Given the description of an element on the screen output the (x, y) to click on. 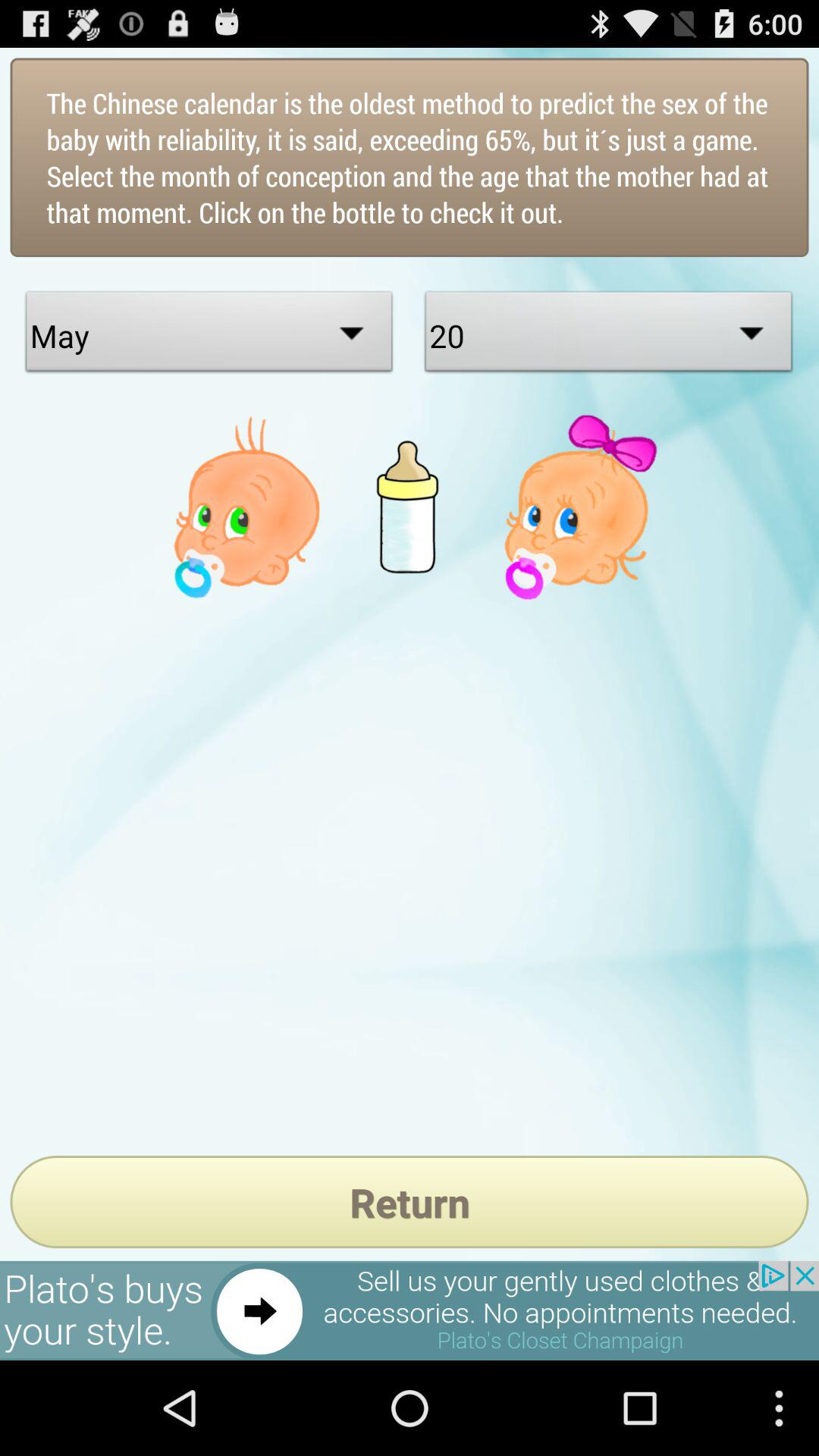
link to advertisement link (409, 1310)
